Given the description of an element on the screen output the (x, y) to click on. 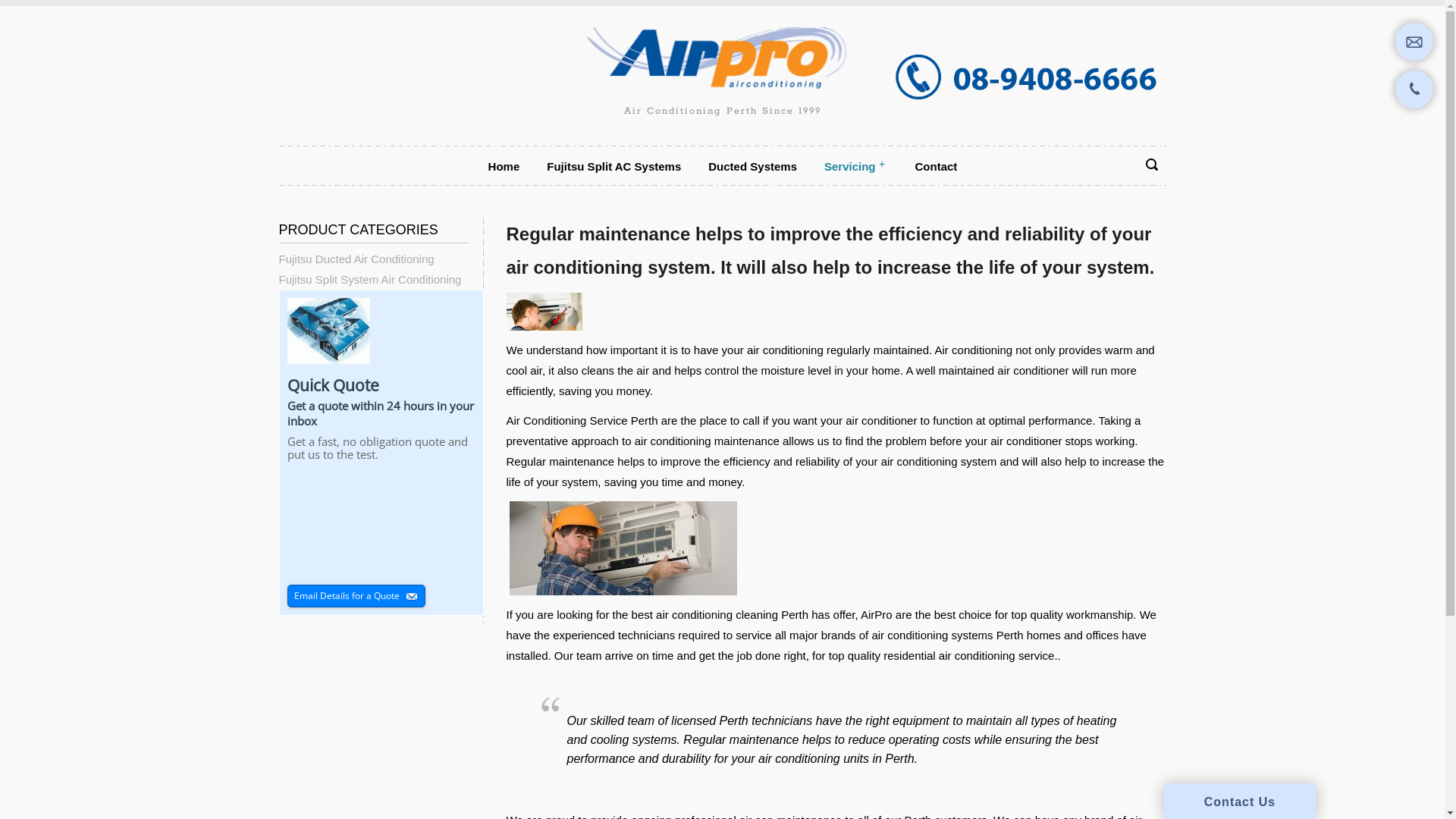
Ducted Systems Element type: text (752, 166)
Contact Element type: text (936, 166)
Fujitsu Split System Air Conditioning Element type: text (370, 279)
Fujitsu Air Conditioning Perth by Airpro airconditioning Element type: hover (722, 59)
Search Element type: text (1140, 214)
Fujitsu Ducted Air Conditioning Element type: text (356, 258)
Fujitsu Air Conditioning Perth by Airpro airconditioning Element type: hover (722, 53)
Fujitsu Split AC Systems Element type: text (613, 166)
Home Element type: text (503, 166)
